Given the description of an element on the screen output the (x, y) to click on. 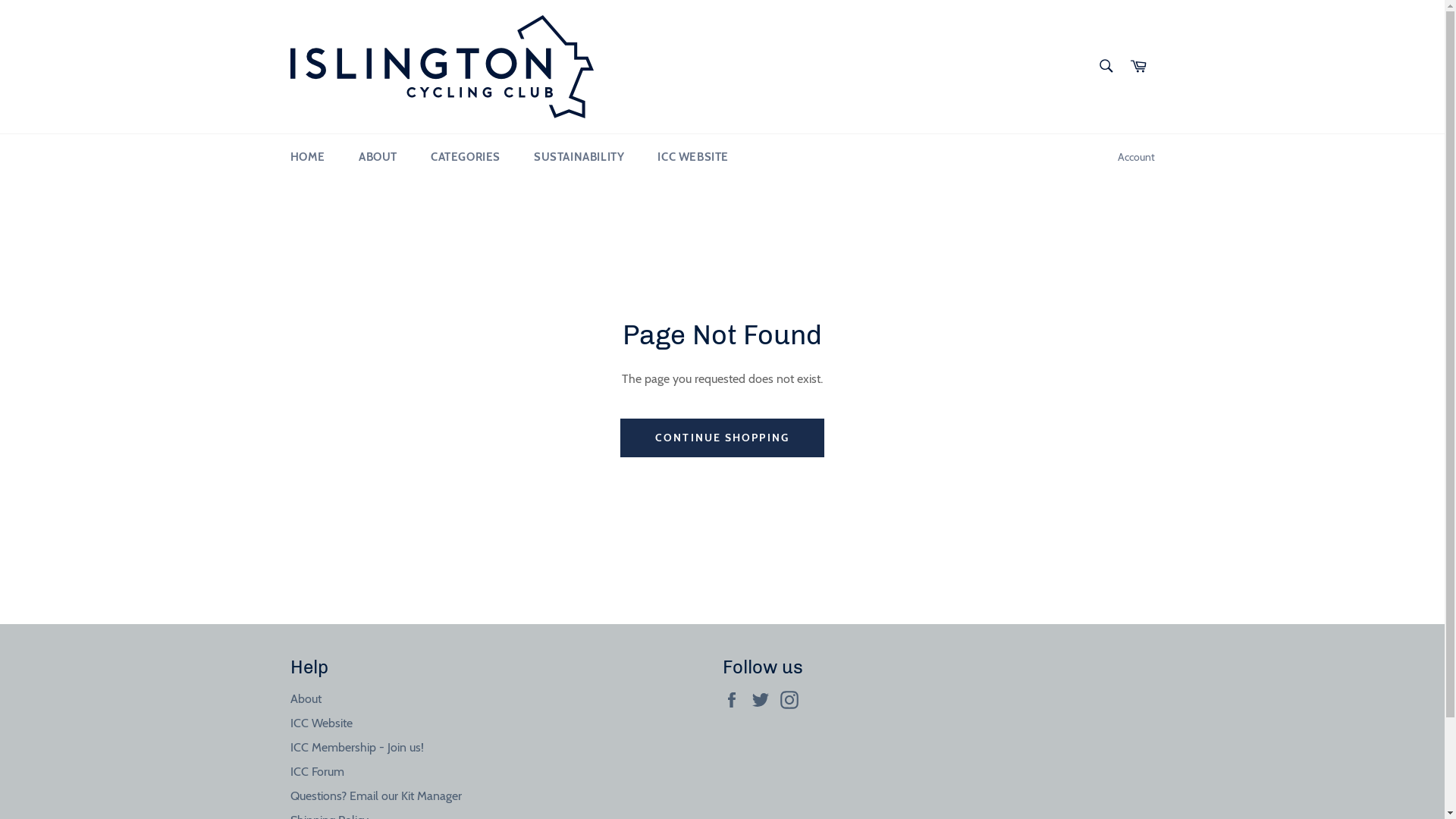
Instagram Element type: text (792, 699)
Facebook Element type: text (734, 699)
Search Element type: text (1105, 65)
CONTINUE SHOPPING Element type: text (722, 437)
HOME Element type: text (306, 157)
About Element type: text (304, 698)
Questions? Email our Kit Manager Element type: text (375, 795)
ICC Membership - Join us! Element type: text (356, 747)
ABOUT Element type: text (377, 157)
SUSTAINABILITY Element type: text (578, 157)
Twitter Element type: text (763, 699)
ICC Forum Element type: text (316, 771)
ICC Website Element type: text (320, 722)
ICC WEBSITE Element type: text (692, 157)
CATEGORIES Element type: text (465, 157)
Cart Element type: text (1138, 67)
Account Element type: text (1136, 156)
